Given the description of an element on the screen output the (x, y) to click on. 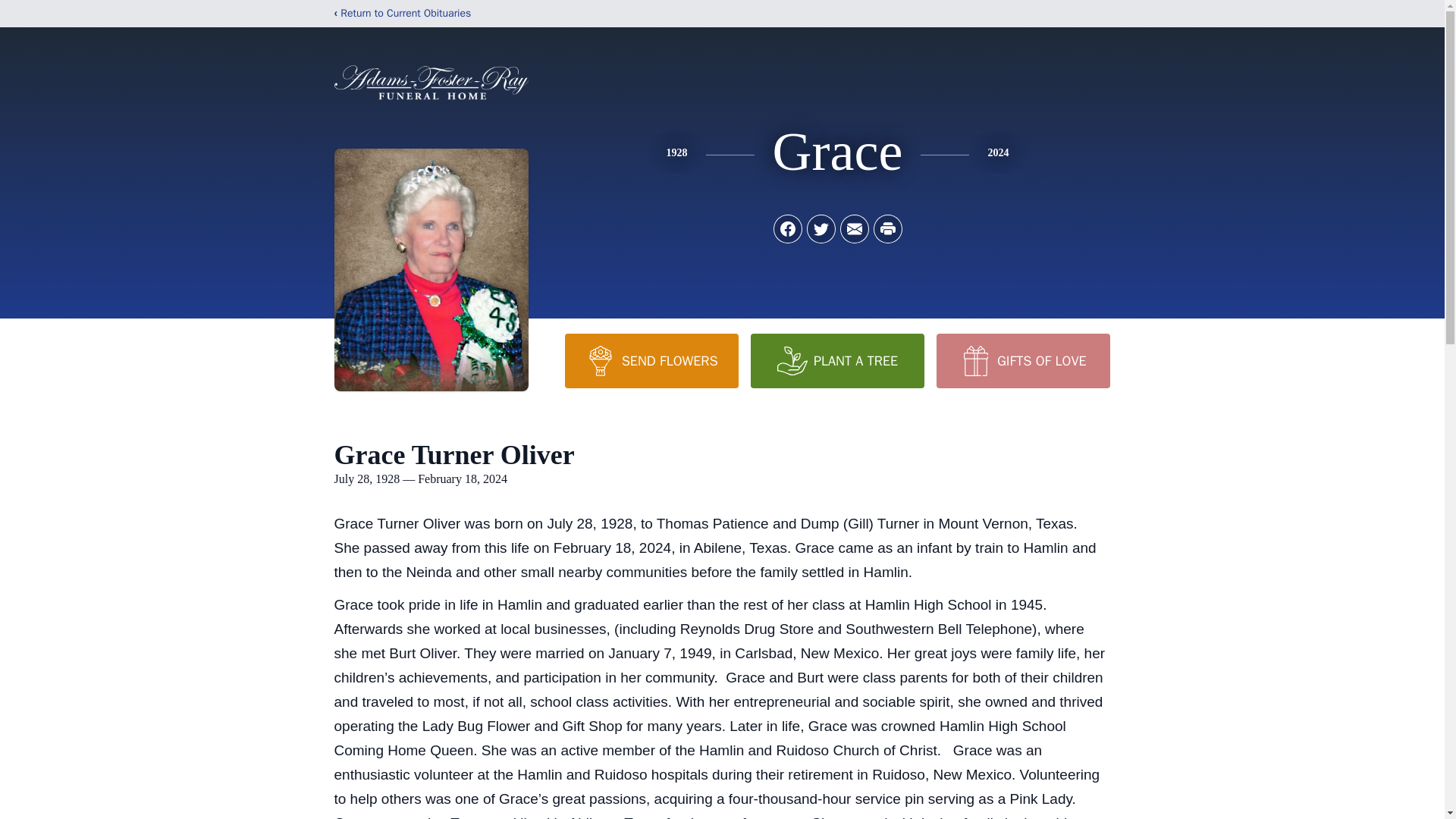
SEND FLOWERS (651, 360)
GIFTS OF LOVE (1022, 360)
PLANT A TREE (837, 360)
